Given the description of an element on the screen output the (x, y) to click on. 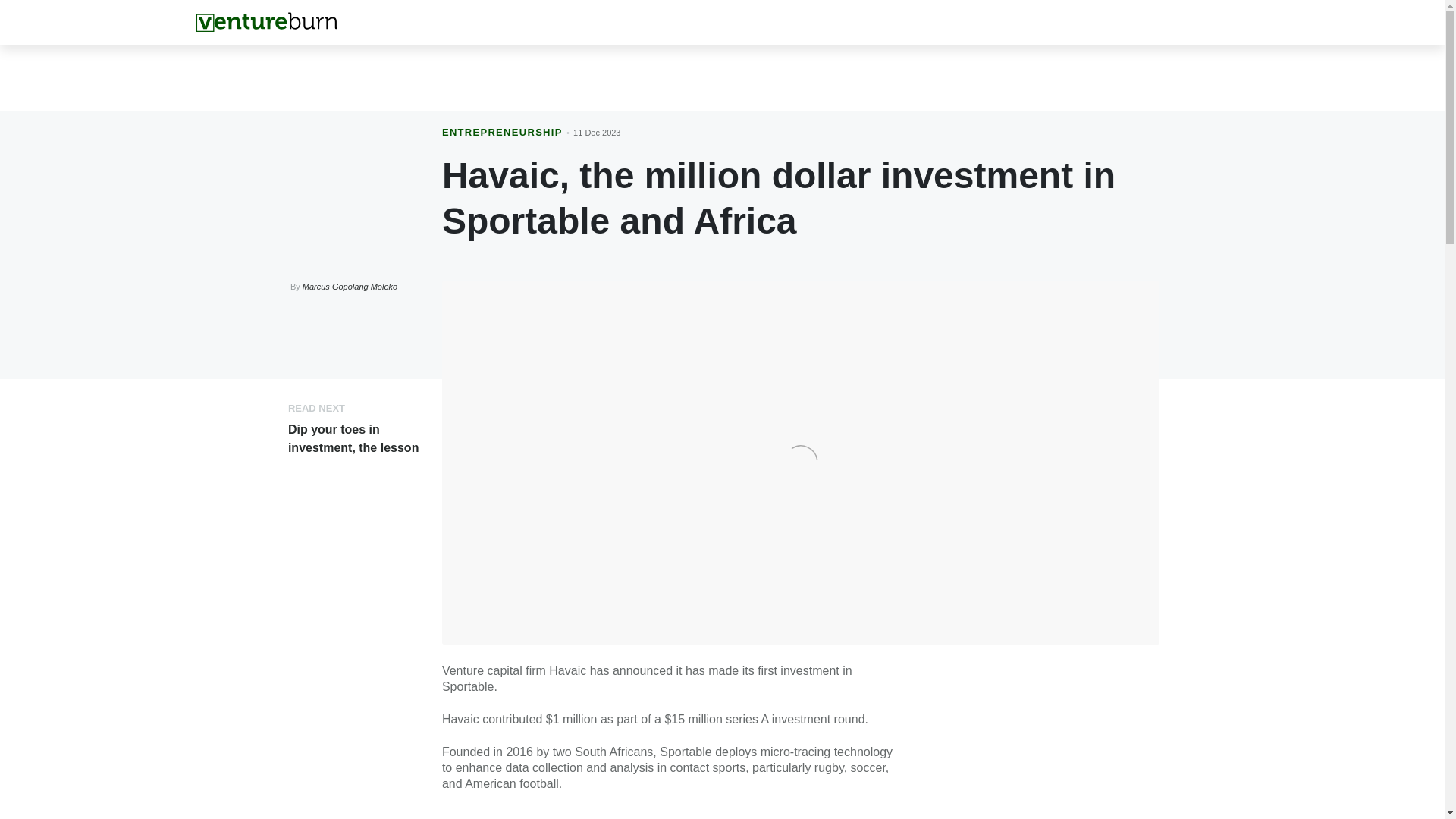
Marcus Gopolang Moloko (349, 286)
11 Dec 2023 (596, 132)
Home (266, 21)
ENTREPRENEURSHIP (502, 132)
Dip your toes in investment, the lesson (353, 438)
